Given the description of an element on the screen output the (x, y) to click on. 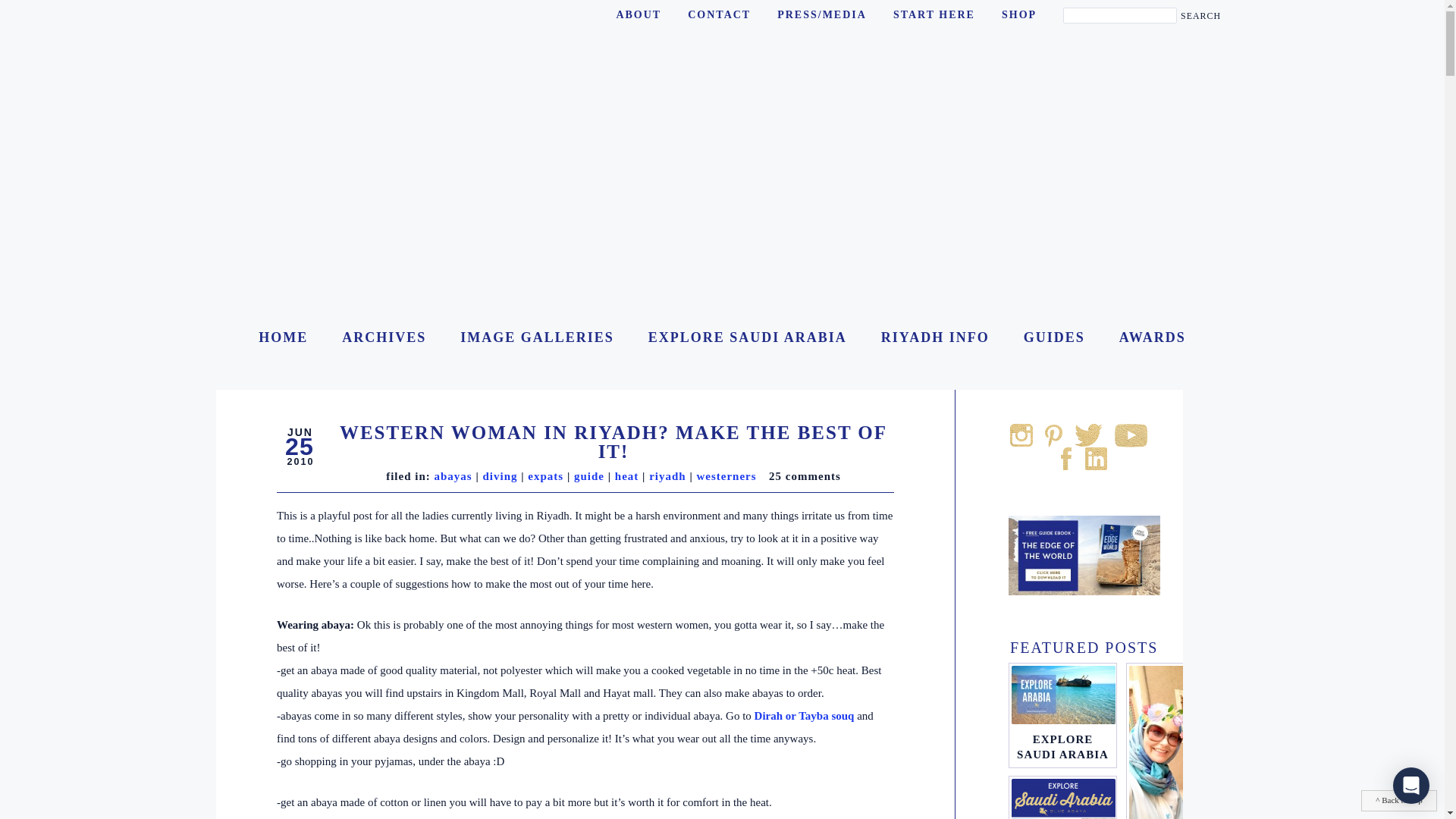
permalink to Saudi Tourism and Economy (1062, 798)
ARCHIVES (384, 336)
permalink to Explore Saudi Arabia (1062, 694)
Search (1200, 17)
SHOP (1018, 14)
Search (1200, 17)
Search (1200, 17)
ABOUT (638, 14)
permalink to Explore Saudi Arabia (1062, 746)
Blue Abaya (283, 336)
Blue Abaya (329, 65)
HOME (283, 336)
IMAGE GALLERIES (537, 336)
CONTACT (719, 14)
START HERE (934, 14)
